Given the description of an element on the screen output the (x, y) to click on. 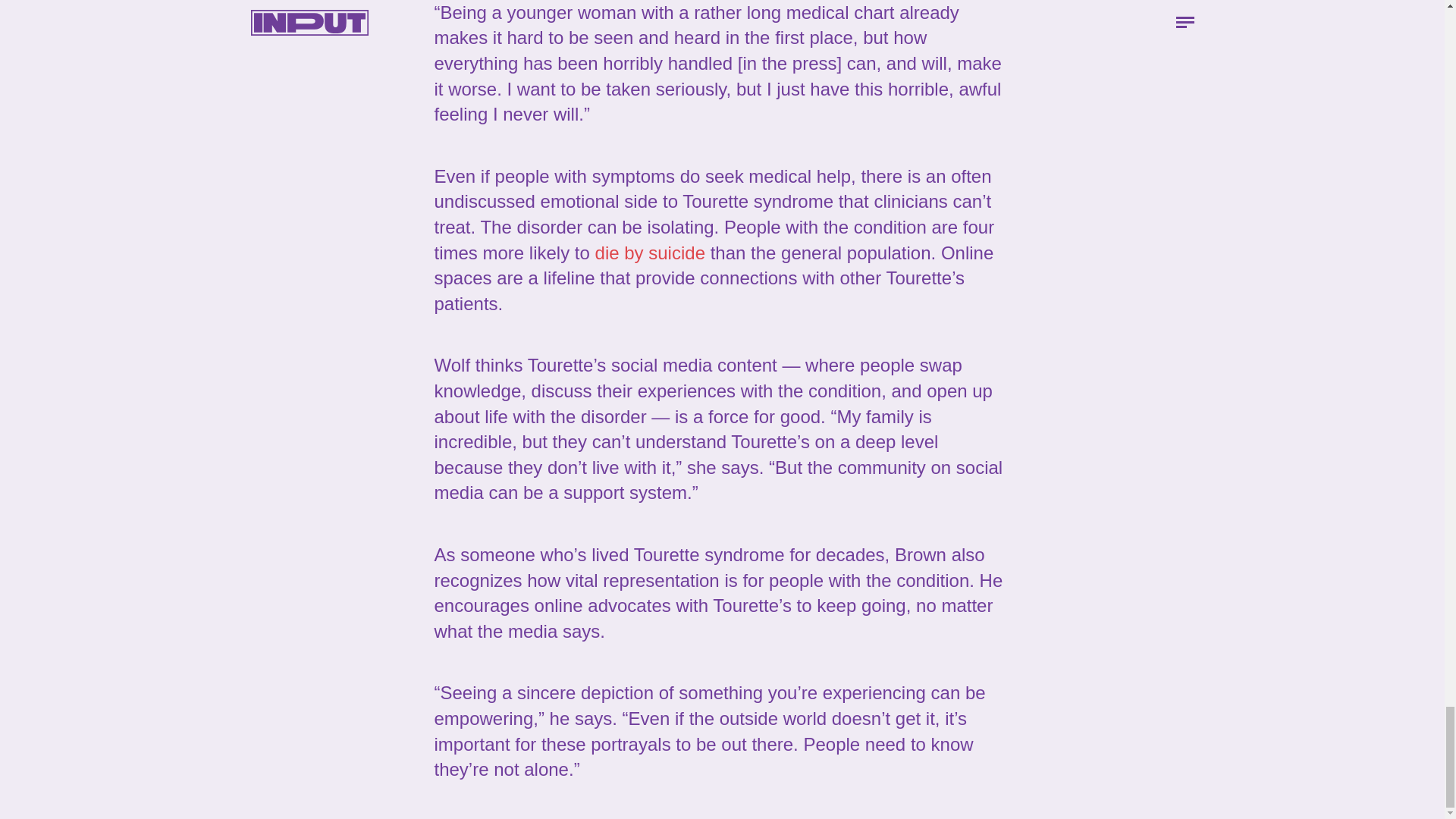
die by suicide (649, 252)
